Given the description of an element on the screen output the (x, y) to click on. 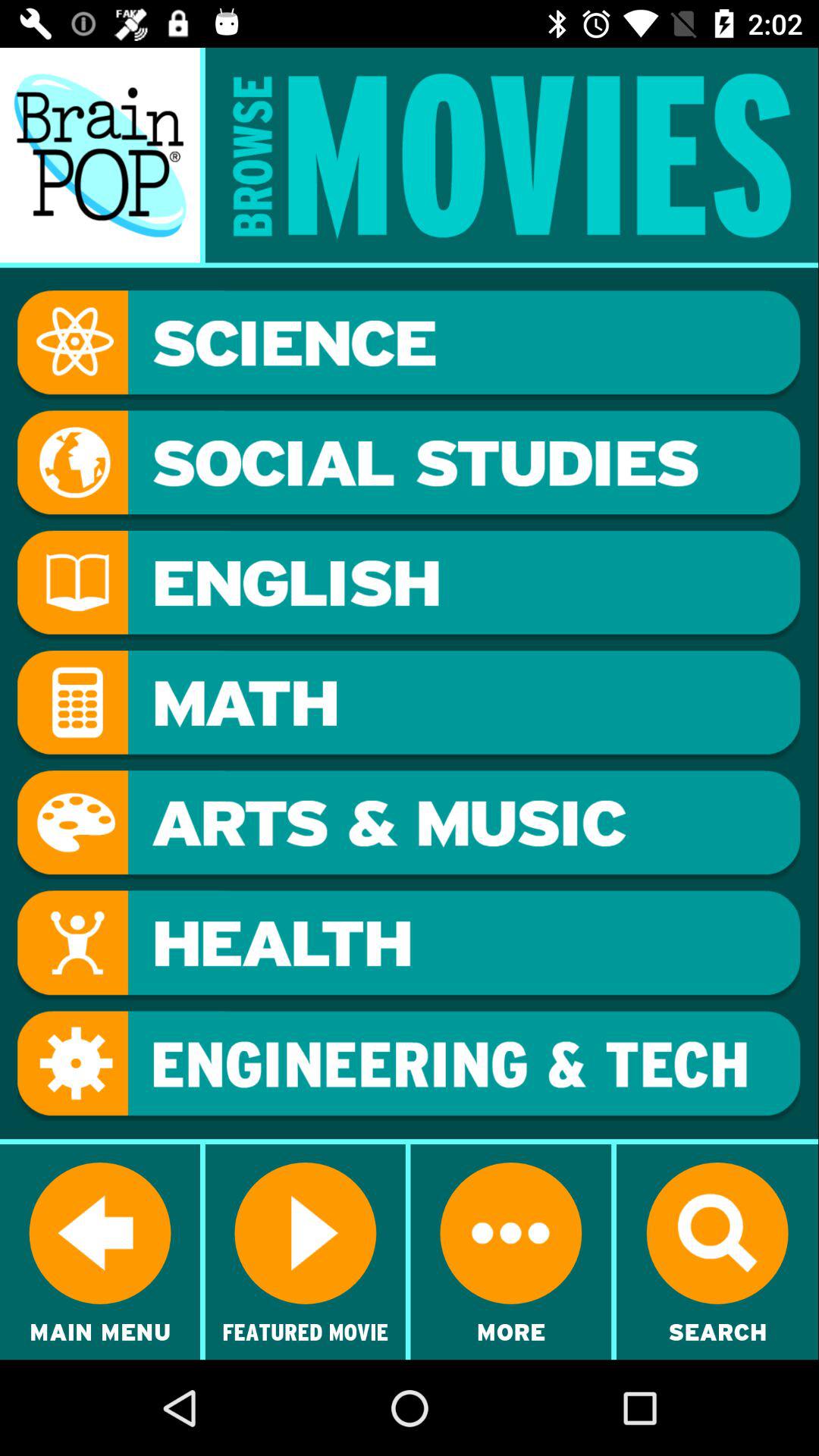
takes you to homepage (100, 154)
